Given the description of an element on the screen output the (x, y) to click on. 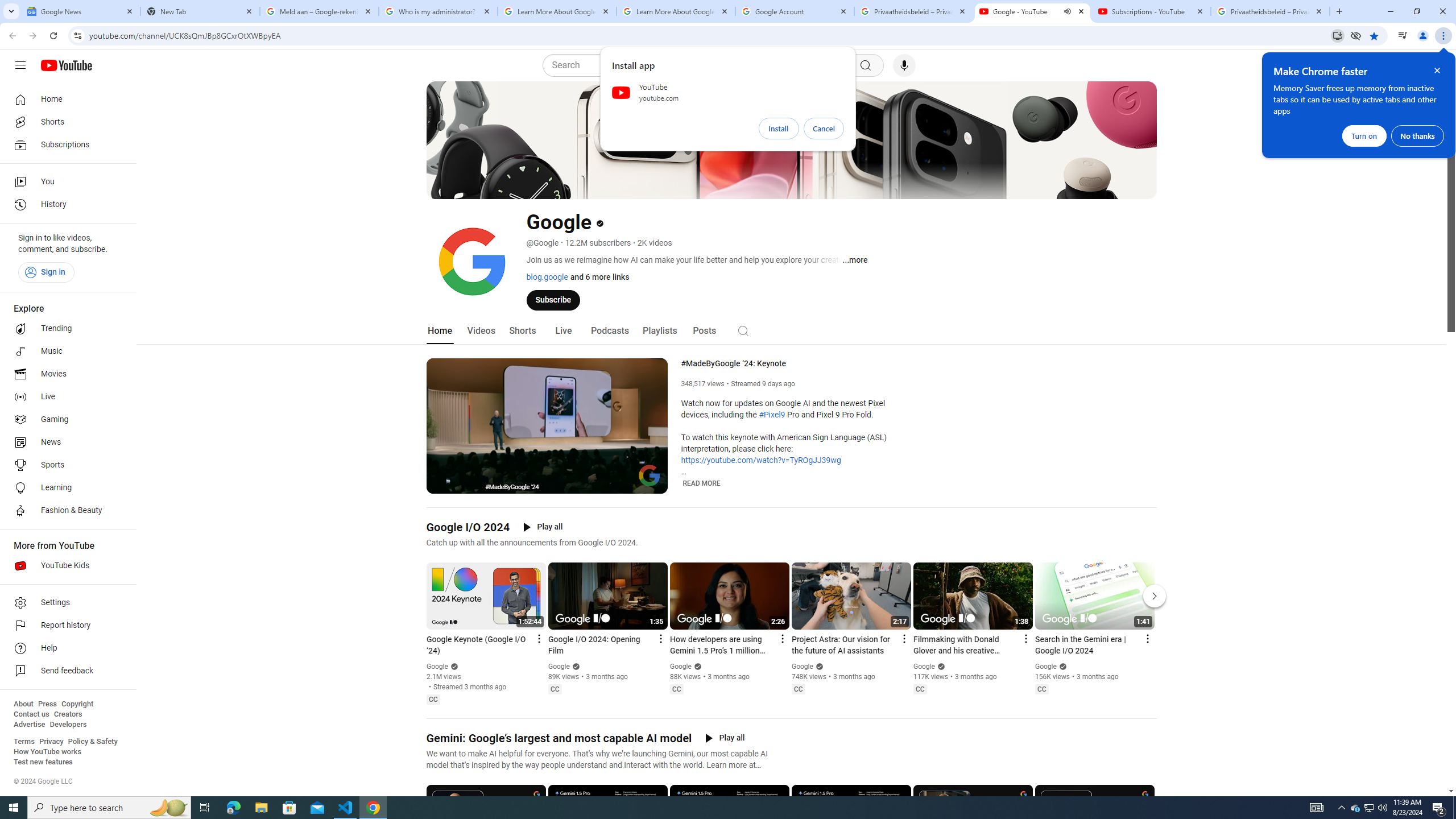
Google Account (794, 11)
Videos (481, 330)
Copyright (77, 703)
Search with your voice (903, 65)
Seek slider (546, 471)
Live (562, 330)
Install (778, 128)
Creators (67, 714)
